Given the description of an element on the screen output the (x, y) to click on. 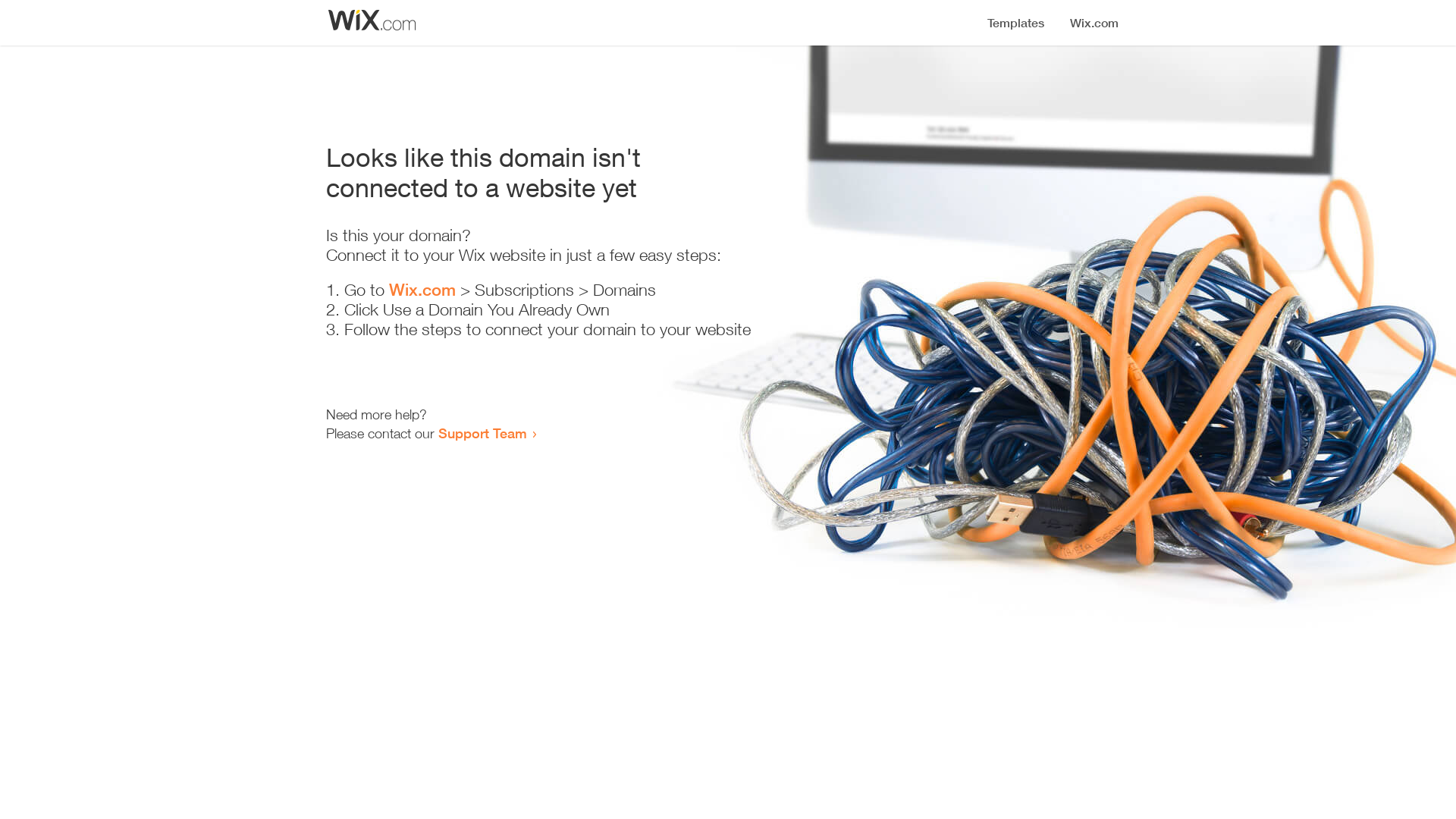
Wix.com Element type: text (422, 289)
Support Team Element type: text (482, 432)
